Given the description of an element on the screen output the (x, y) to click on. 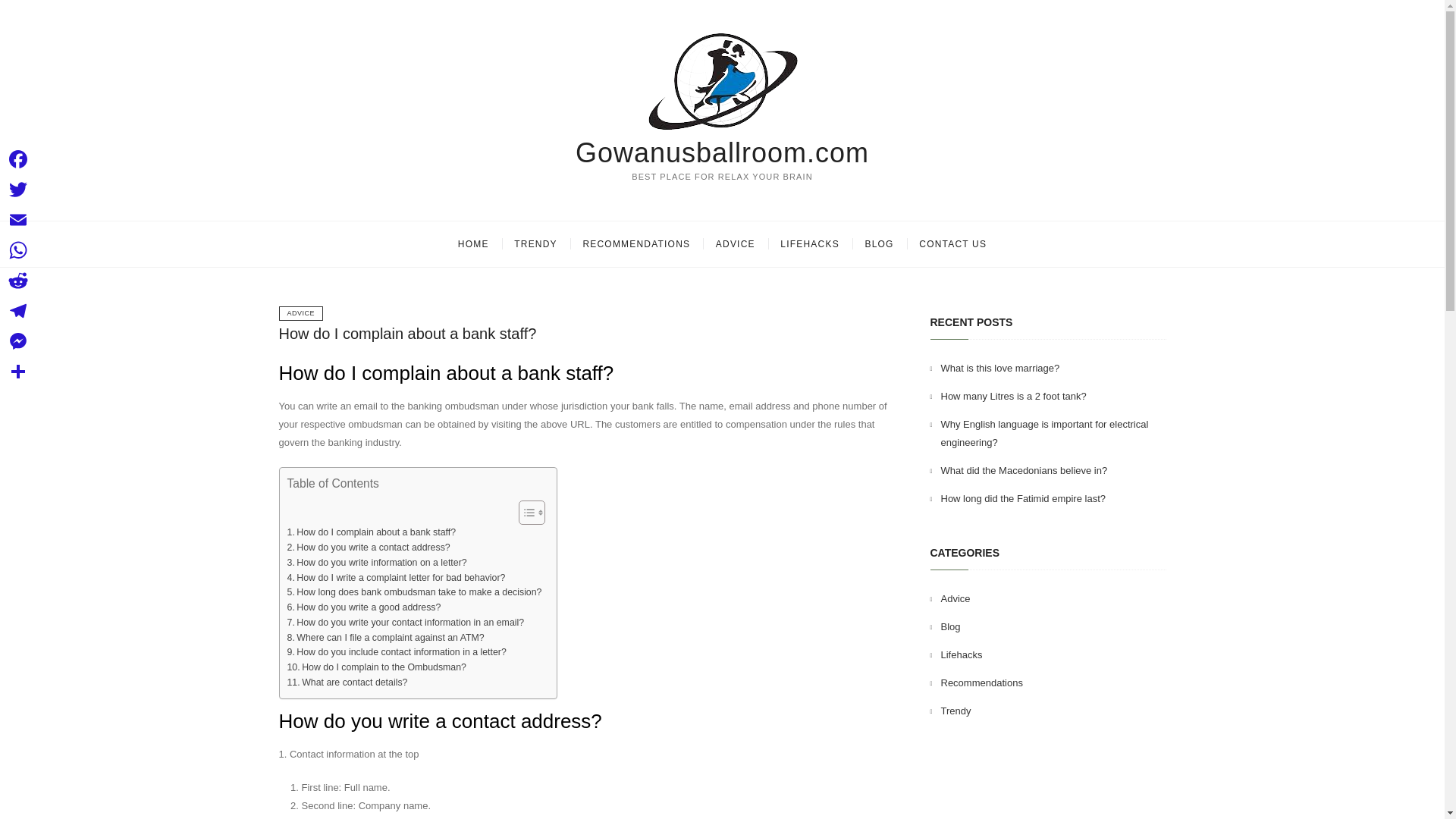
CONTACT US (952, 243)
BLOG (878, 243)
What is this love marriage? (999, 367)
ADVICE (735, 243)
How long does bank ombudsman take to make a decision? (413, 592)
How do you write a good address? (363, 607)
How do you write a good address? (363, 607)
How do I complain about a bank staff? (408, 333)
Gowanusballroom.com (722, 152)
How do you write your contact information in an email? (405, 622)
How do I complain about a bank staff? (408, 333)
ADVICE (301, 313)
How do you write information on a letter? (375, 563)
LIFEHACKS (809, 243)
